Given the description of an element on the screen output the (x, y) to click on. 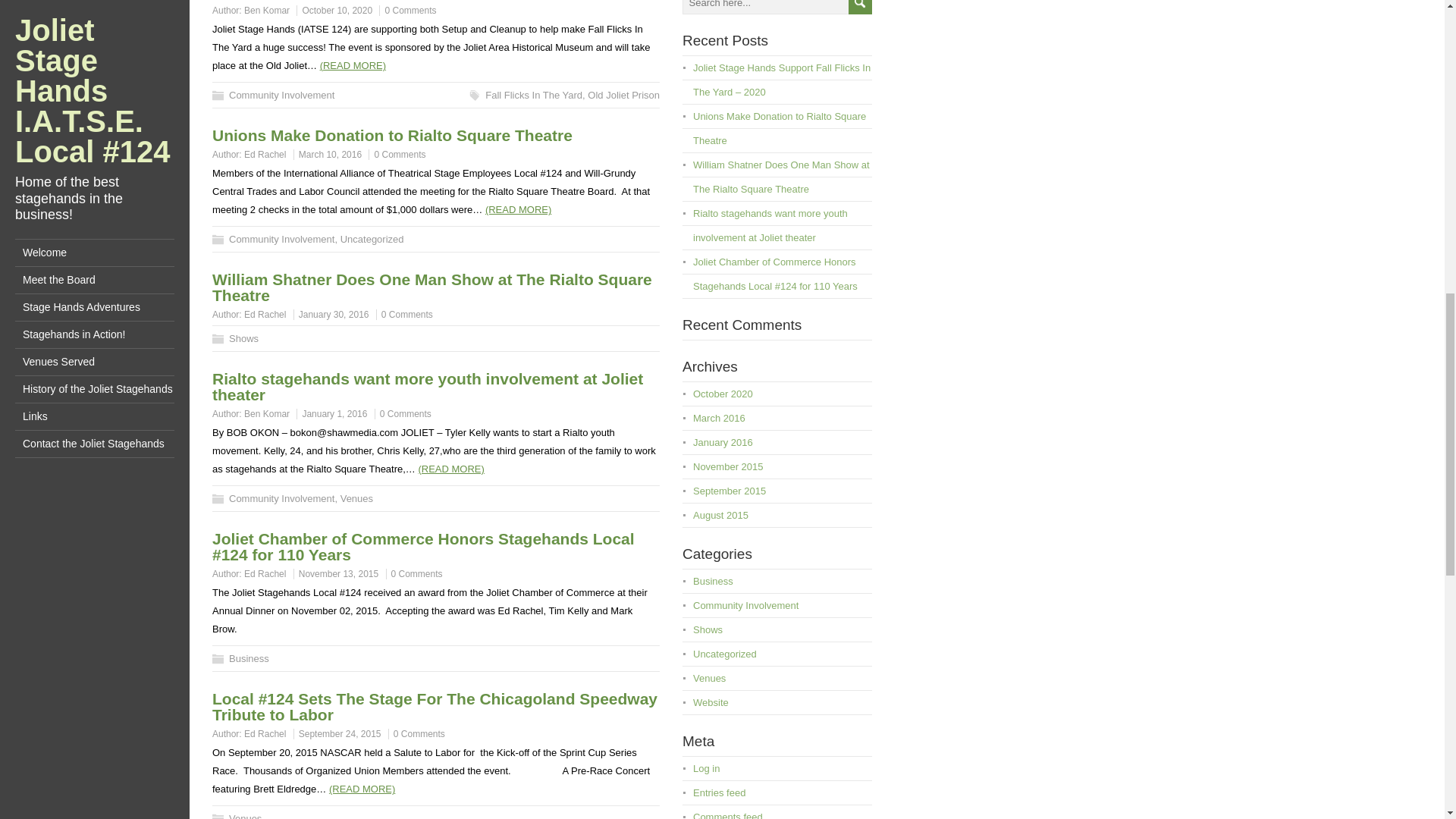
Community Involvement (281, 498)
Ed Rachel (264, 573)
0 Comments (409, 9)
Shows (243, 337)
Ben Komar (266, 413)
March 10, 2016 (329, 154)
Posts by Ed Rachel (264, 573)
Ed Rachel (264, 314)
Ben Komar (266, 9)
Posts by Ed Rachel (264, 314)
Uncategorized (372, 238)
0 Comments (399, 154)
Fall Flicks In The Yard (533, 94)
October 10, 2020 (336, 9)
